Given the description of an element on the screen output the (x, y) to click on. 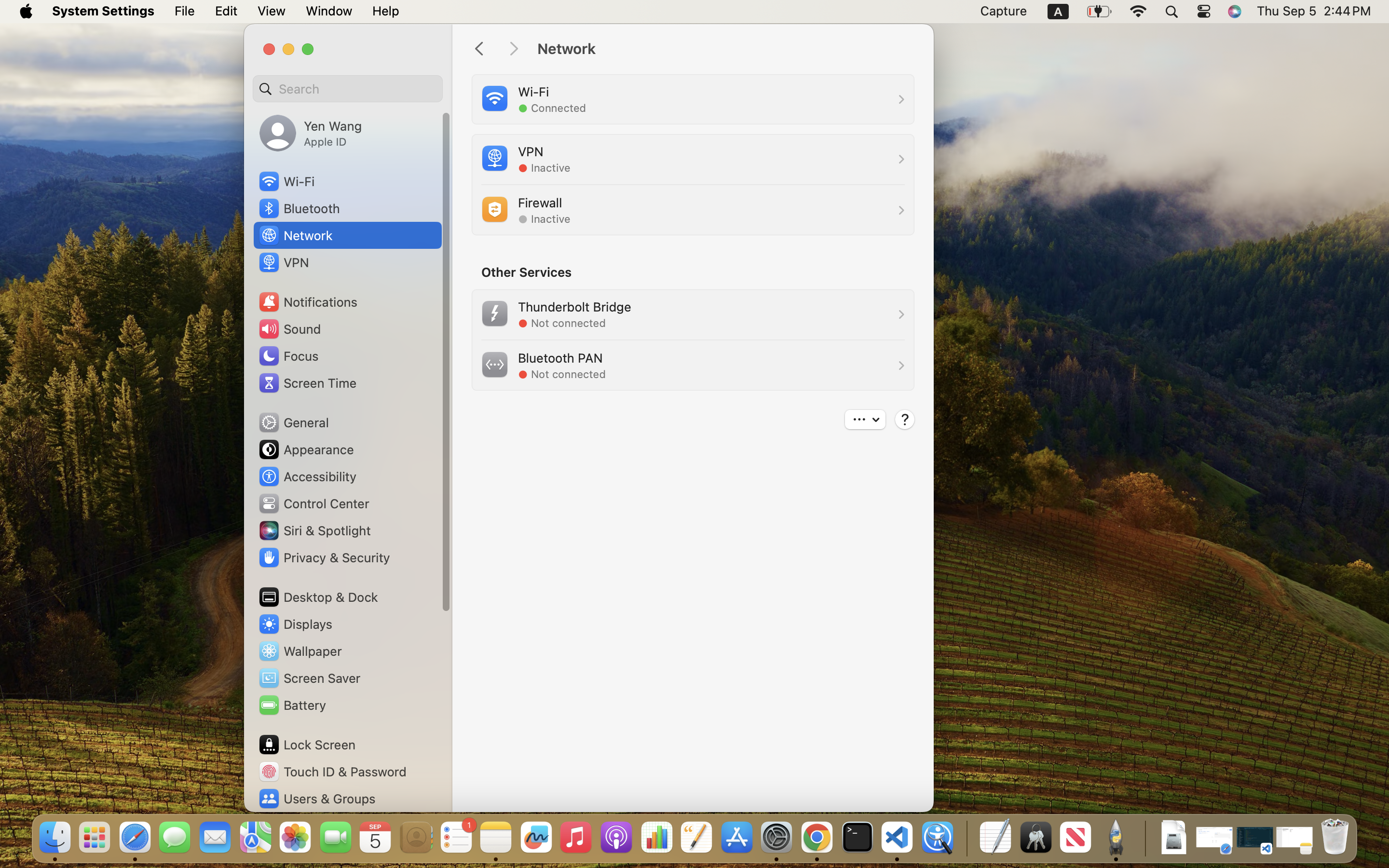
Wi‑Fi Element type: AXStaticText (285, 180)
Accessibility Element type: AXStaticText (306, 476)
Sound Element type: AXStaticText (289, 328)
Siri & Spotlight Element type: AXStaticText (313, 530)
Appearance Element type: AXStaticText (305, 449)
